Given the description of an element on the screen output the (x, y) to click on. 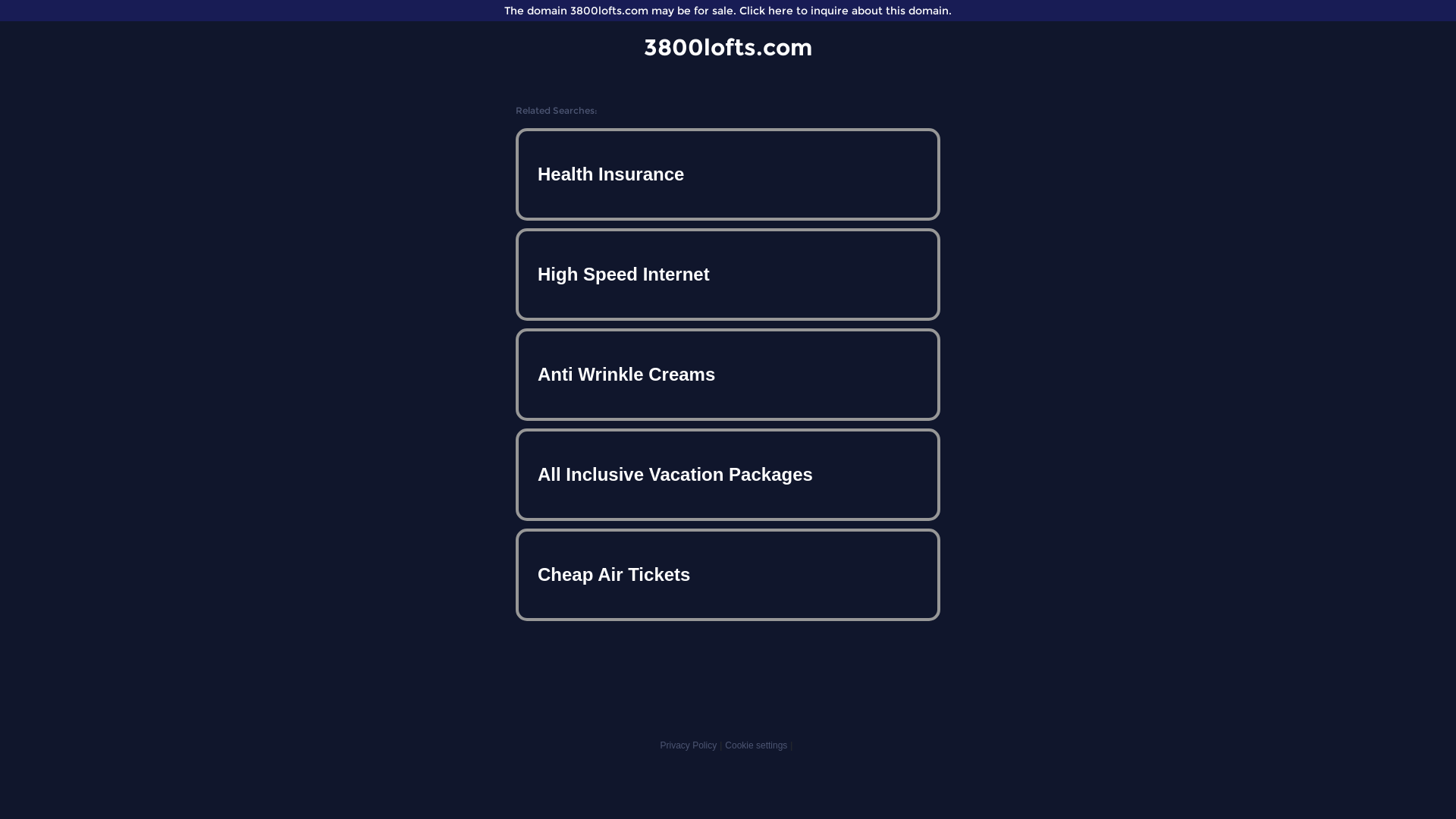
Anti Wrinkle Creams Element type: text (727, 374)
Cheap Air Tickets Element type: text (727, 574)
Privacy Policy Element type: text (687, 745)
Cookie settings Element type: text (755, 745)
Health Insurance Element type: text (727, 174)
All Inclusive Vacation Packages Element type: text (727, 474)
3800lofts.com Element type: text (727, 47)
High Speed Internet Element type: text (727, 274)
